Given the description of an element on the screen output the (x, y) to click on. 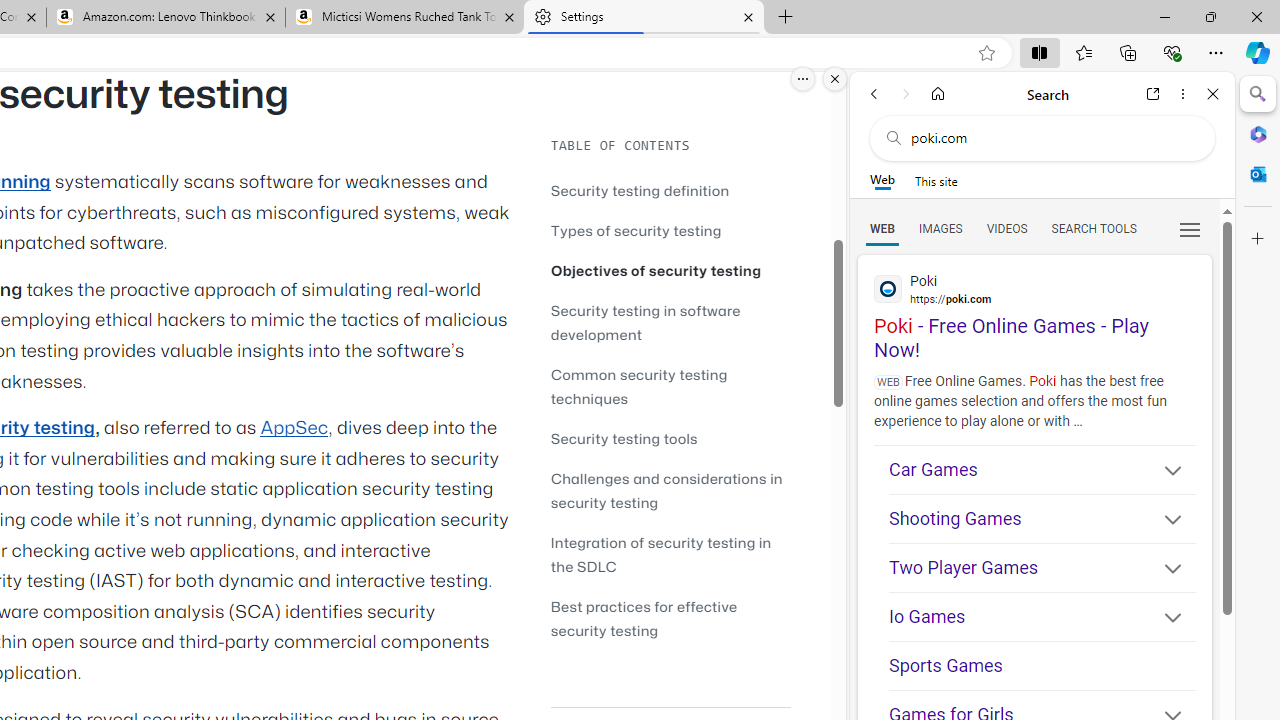
Shooting Games (1042, 518)
Objectives of security testing (670, 269)
Outlook (1258, 174)
Security testing definition (639, 190)
Sports Games (1042, 666)
Integration of security testing in the SDLC (670, 553)
Best practices for effective security testing (644, 618)
Forward (906, 93)
Types of security testing (635, 230)
SEARCH TOOLS (1093, 228)
Challenges and considerations in security testing (670, 489)
Poki (1034, 288)
